Given the description of an element on the screen output the (x, y) to click on. 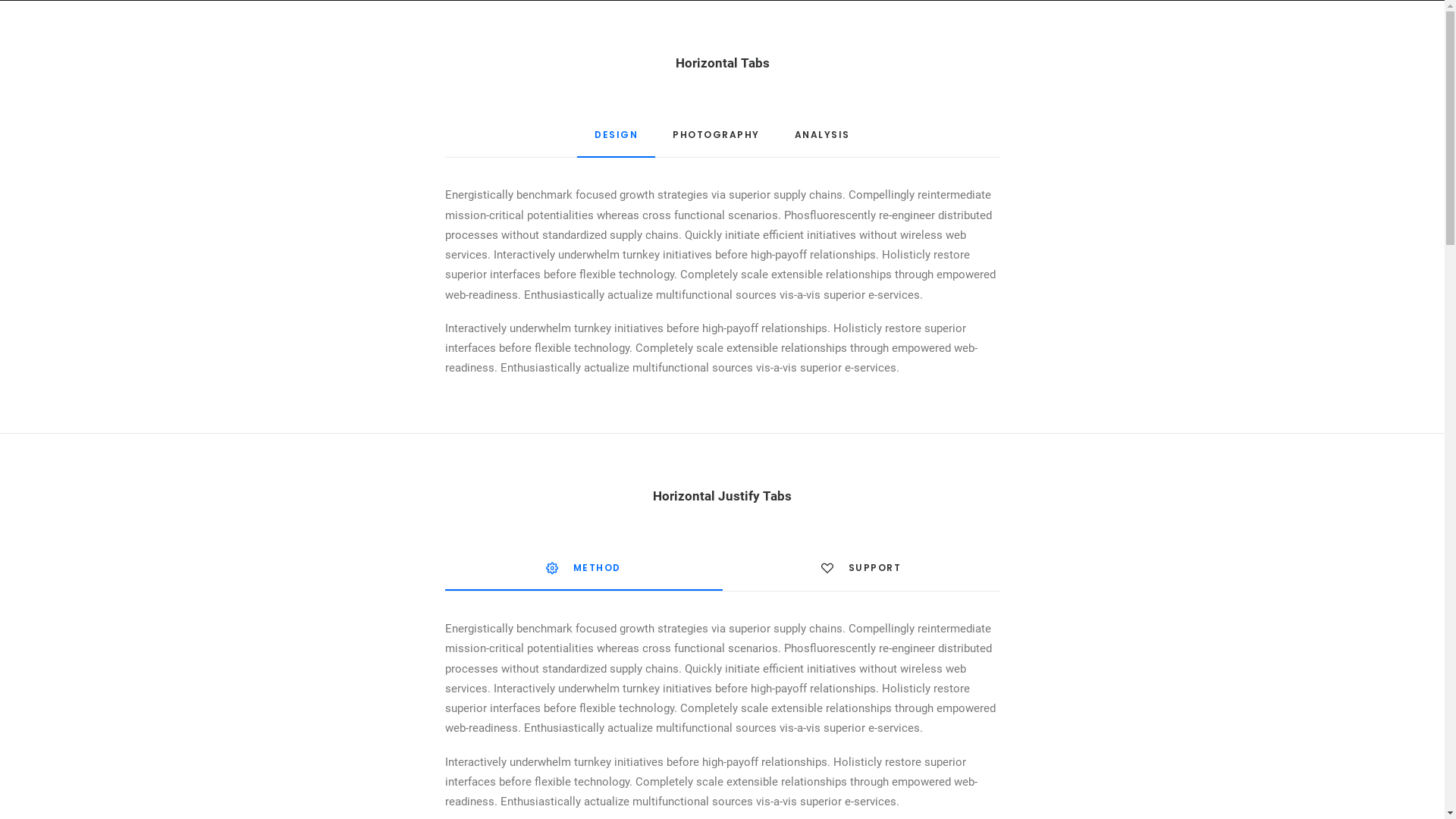
ANALYSIS Element type: text (822, 140)
PHOTOGRAPHY Element type: text (716, 140)
METHOD Element type: text (582, 574)
DESIGN Element type: text (616, 141)
SUPPORT Element type: text (860, 573)
